Given the description of an element on the screen output the (x, y) to click on. 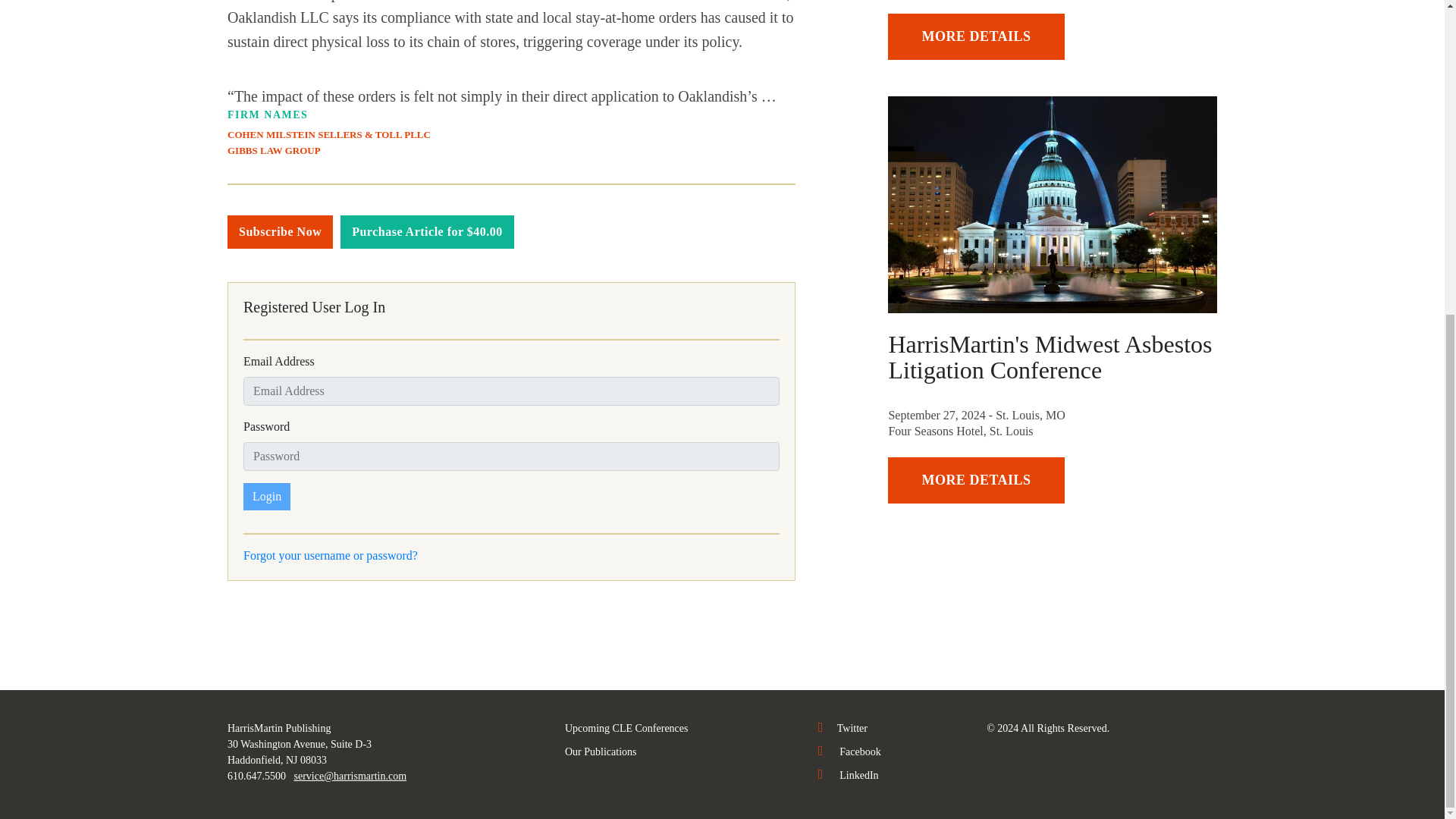
MORE DETAILS (976, 480)
Forgot your username or password? (330, 554)
Subscribe Now (280, 231)
Login (266, 496)
Upcoming CLE Conferences (626, 727)
Our Publications (600, 751)
Facebook (849, 751)
MORE DETAILS (976, 36)
LinkedIn (848, 775)
Twitter (842, 727)
